Given the description of an element on the screen output the (x, y) to click on. 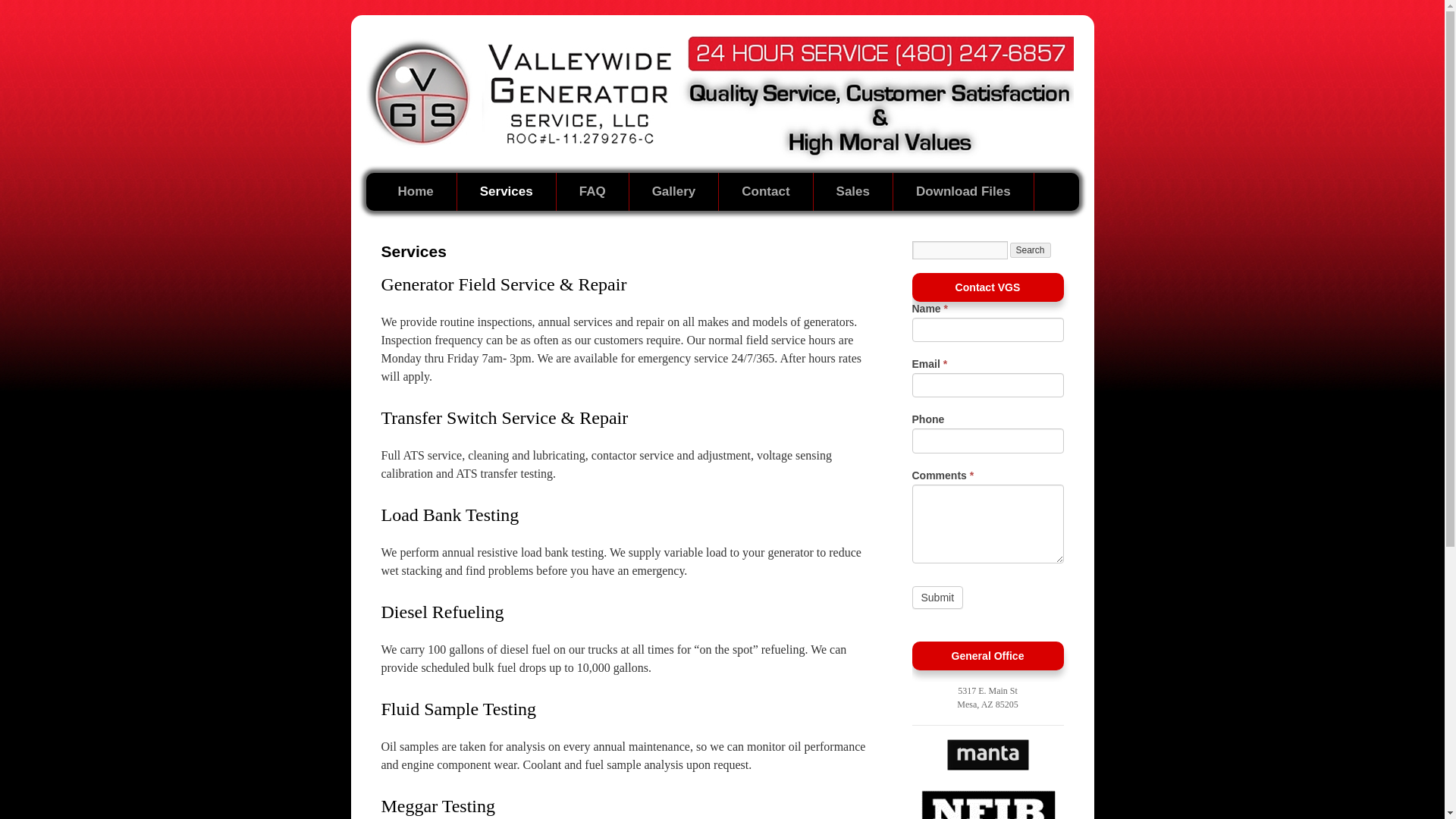
Contact (765, 191)
Sales (853, 191)
Download Files (963, 191)
Search (1030, 249)
Services (506, 191)
Gallery (673, 191)
Phoenix 24 Hour Generator Service Repair  (415, 191)
FAQ (592, 191)
Search (1030, 249)
Submit (936, 597)
